Given the description of an element on the screen output the (x, y) to click on. 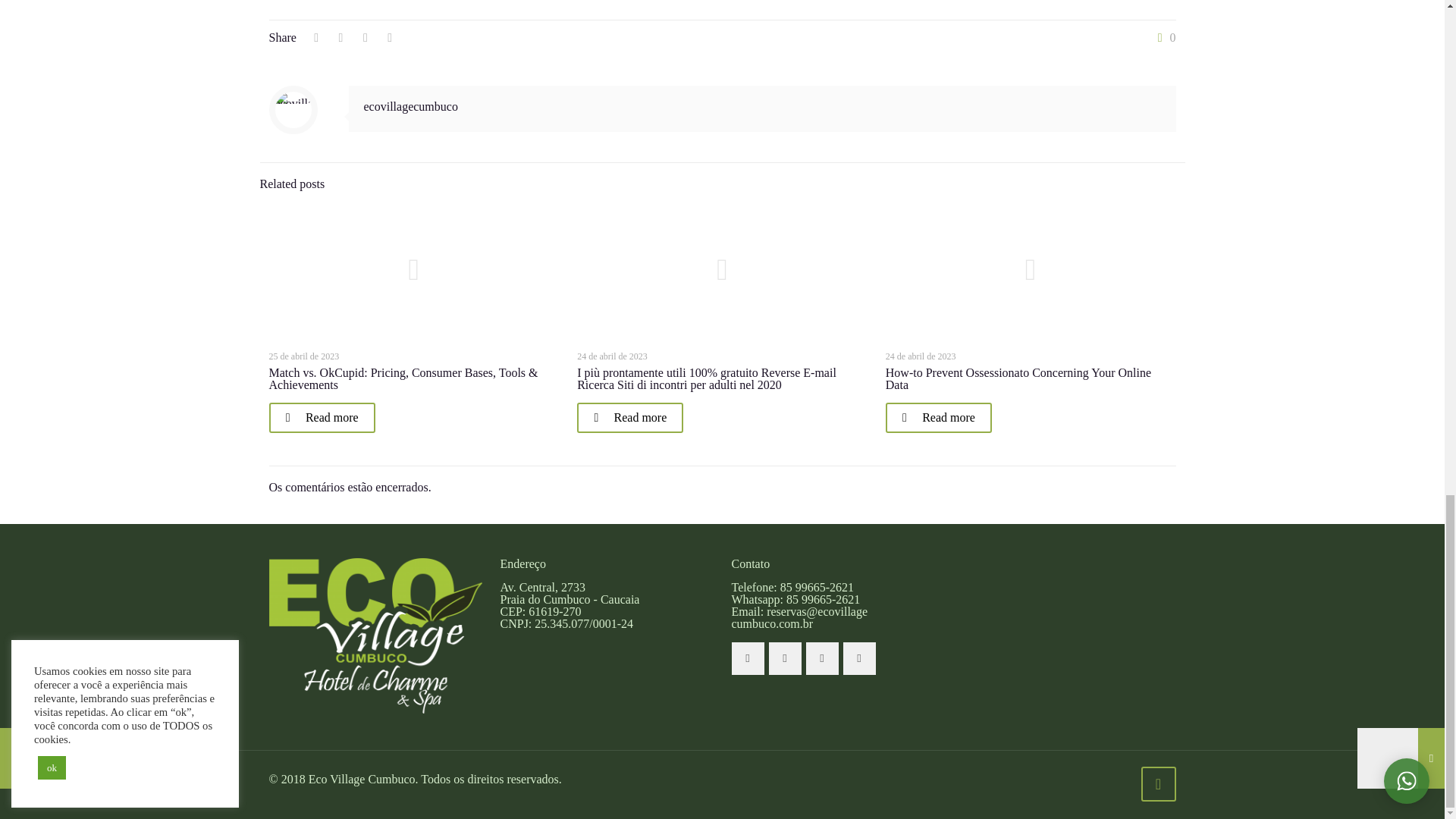
Read more (320, 417)
Read more (938, 417)
Read more (629, 417)
0 (1162, 37)
How-to Prevent Ossessionato Concerning Your Online Data (1018, 378)
Desenvolvimento de sites em Fortaleza (26, 784)
ecovillagecumbuco (411, 106)
